Given the description of an element on the screen output the (x, y) to click on. 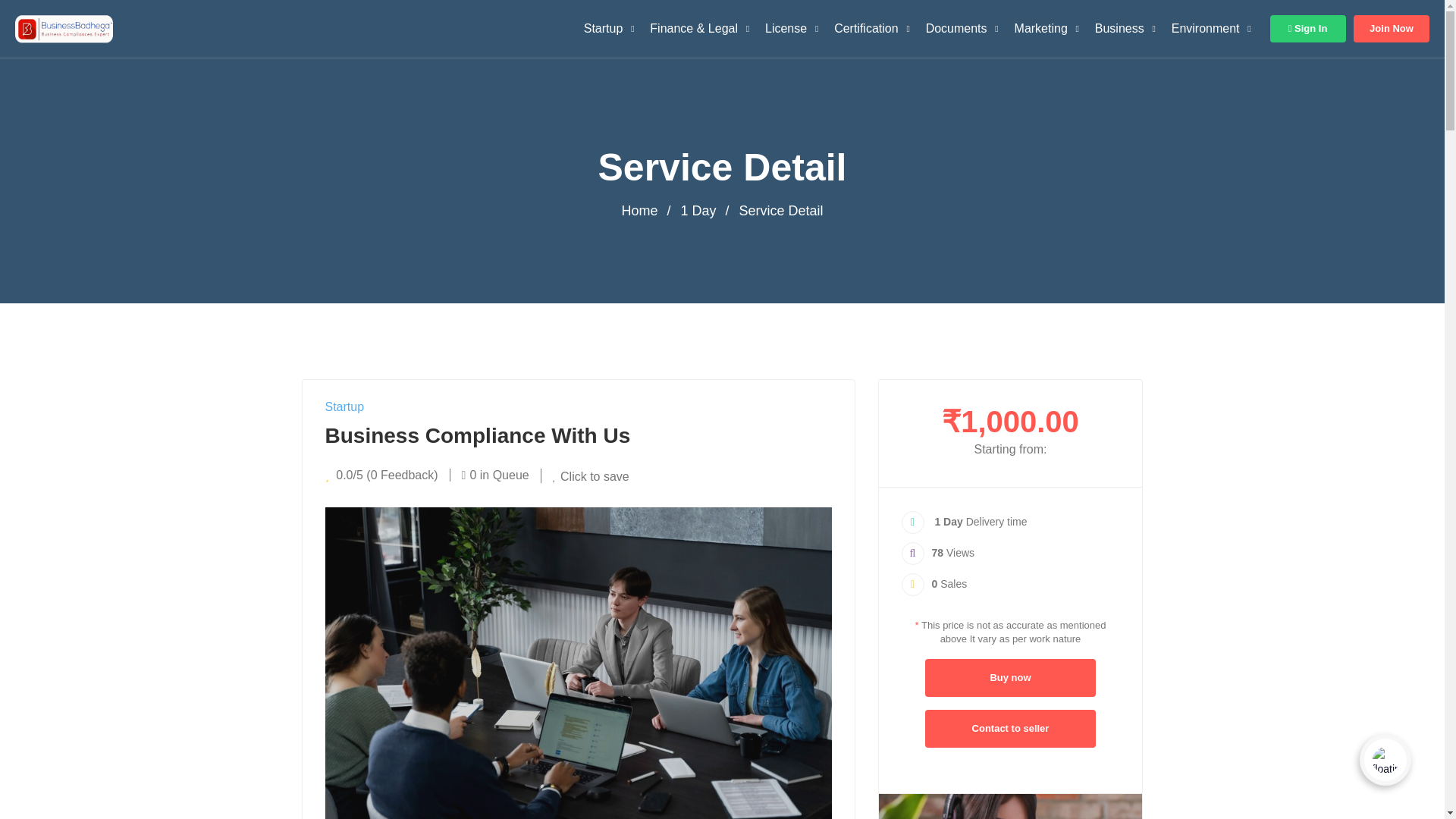
Startup (603, 28)
